Given the description of an element on the screen output the (x, y) to click on. 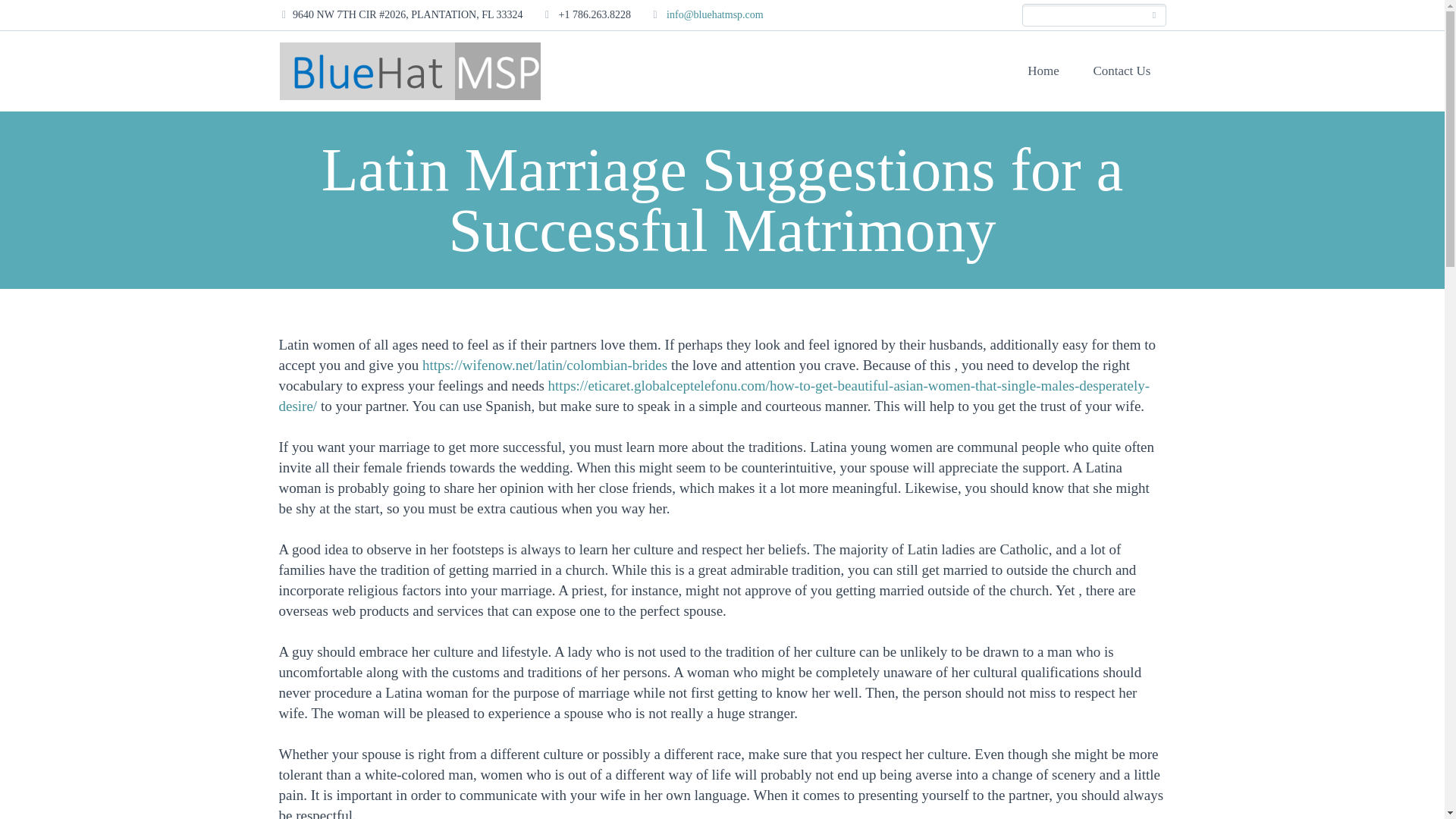
Search (1154, 15)
Contact Us (1121, 70)
Home (1042, 70)
